Given the description of an element on the screen output the (x, y) to click on. 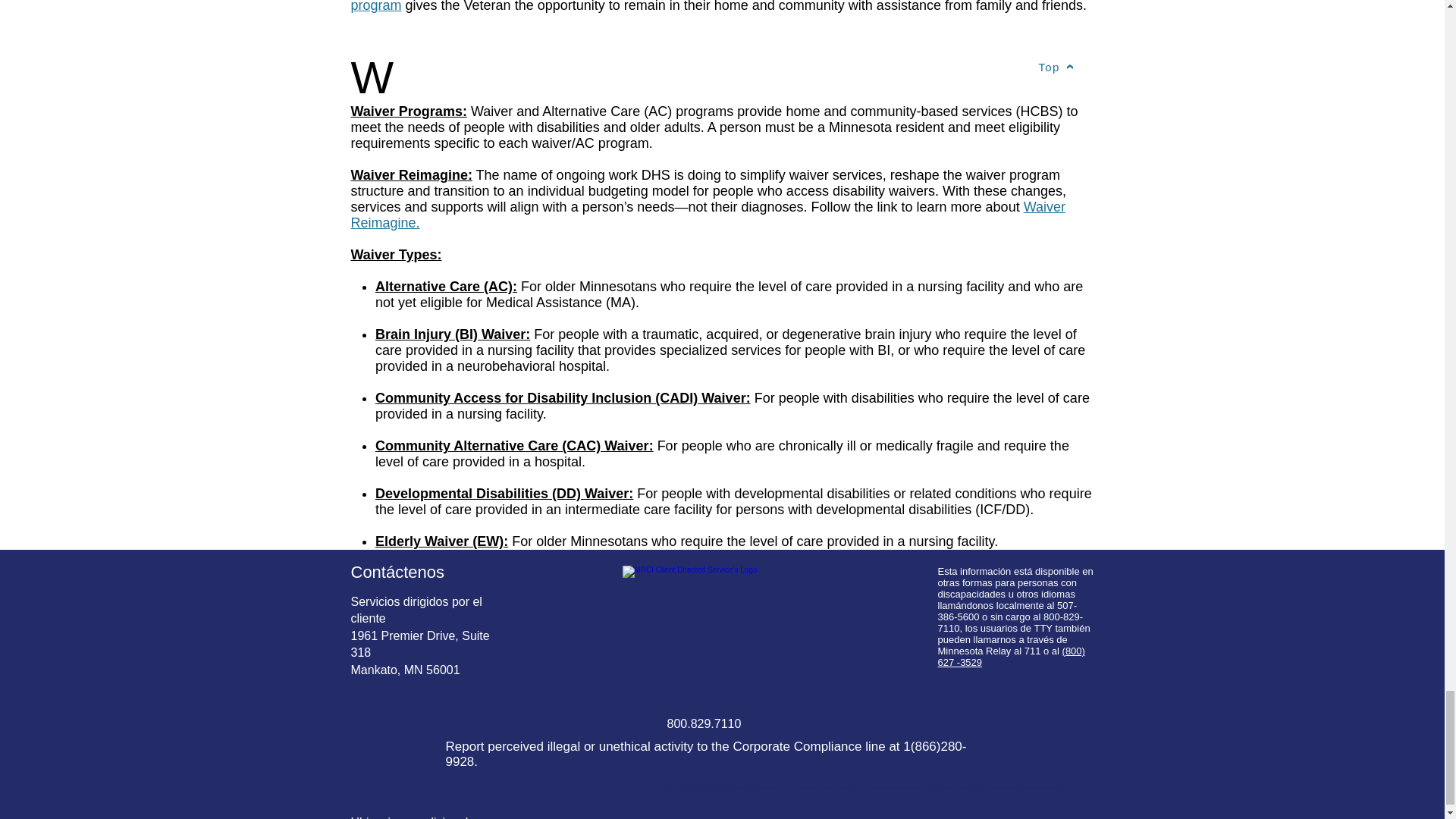
Return to the home page (721, 595)
